Given the description of an element on the screen output the (x, y) to click on. 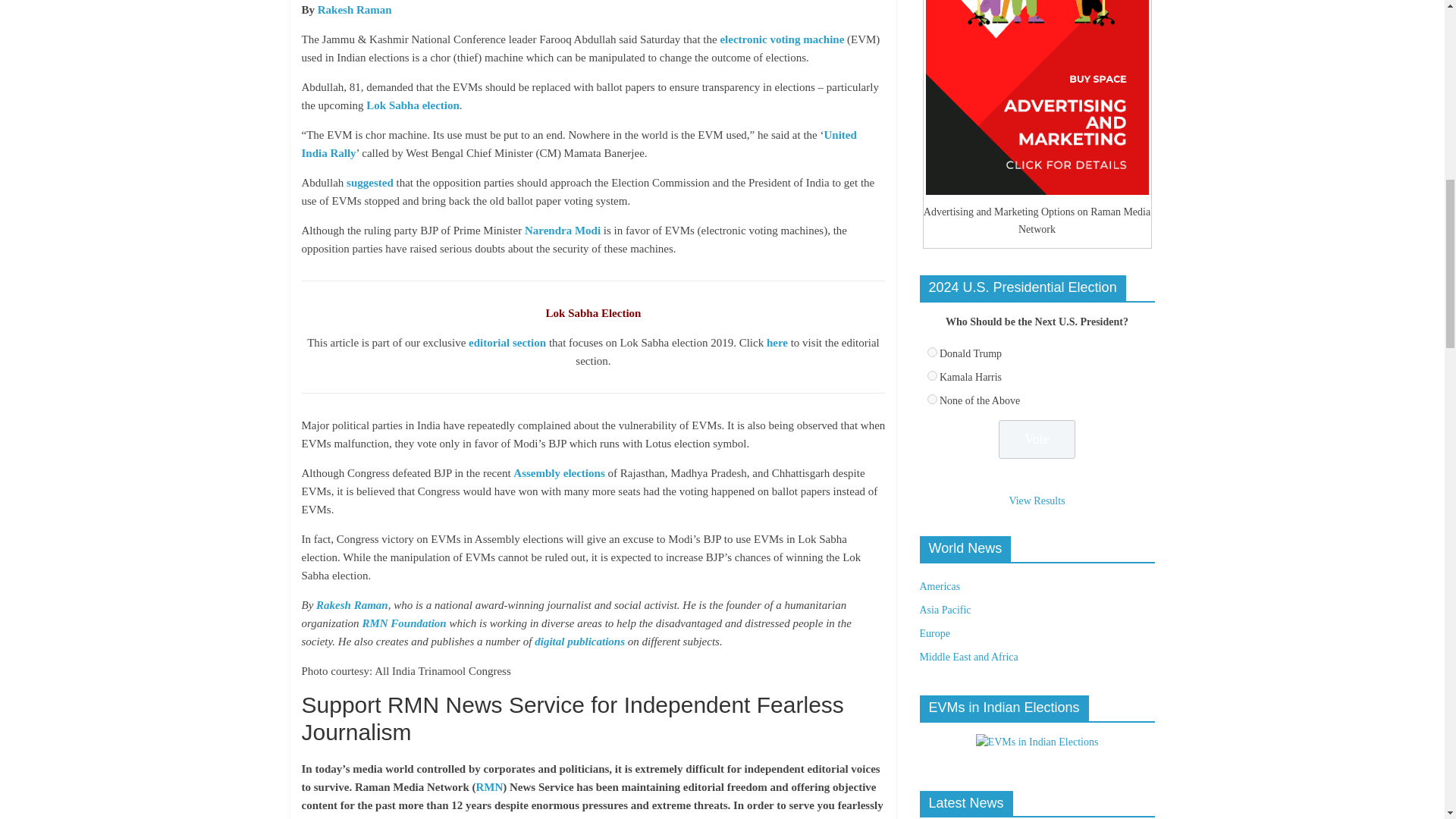
189 (931, 352)
   Vote    (1036, 439)
190 (931, 375)
191 (931, 398)
